Given the description of an element on the screen output the (x, y) to click on. 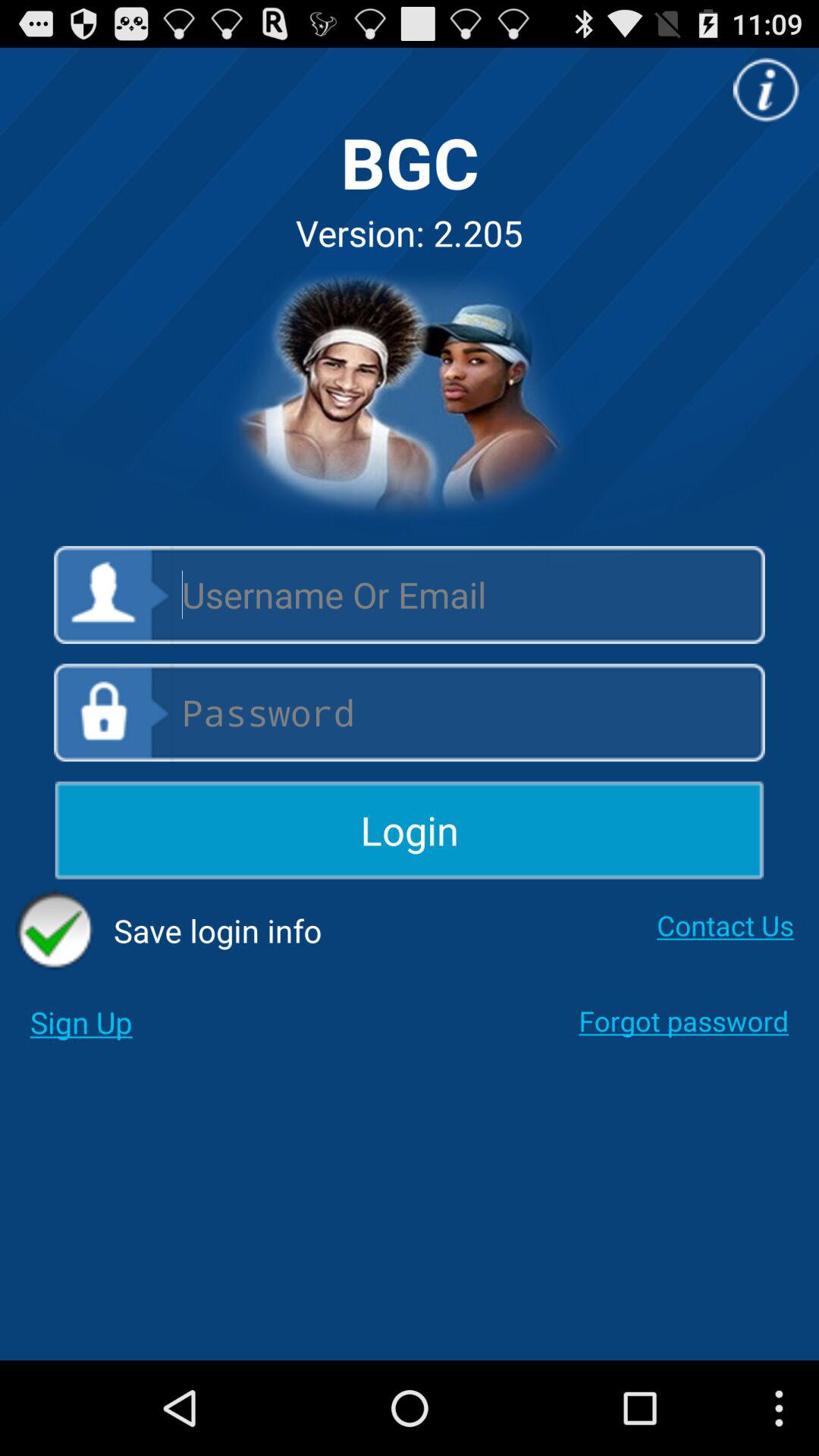
press the contact us (724, 925)
